Given the description of an element on the screen output the (x, y) to click on. 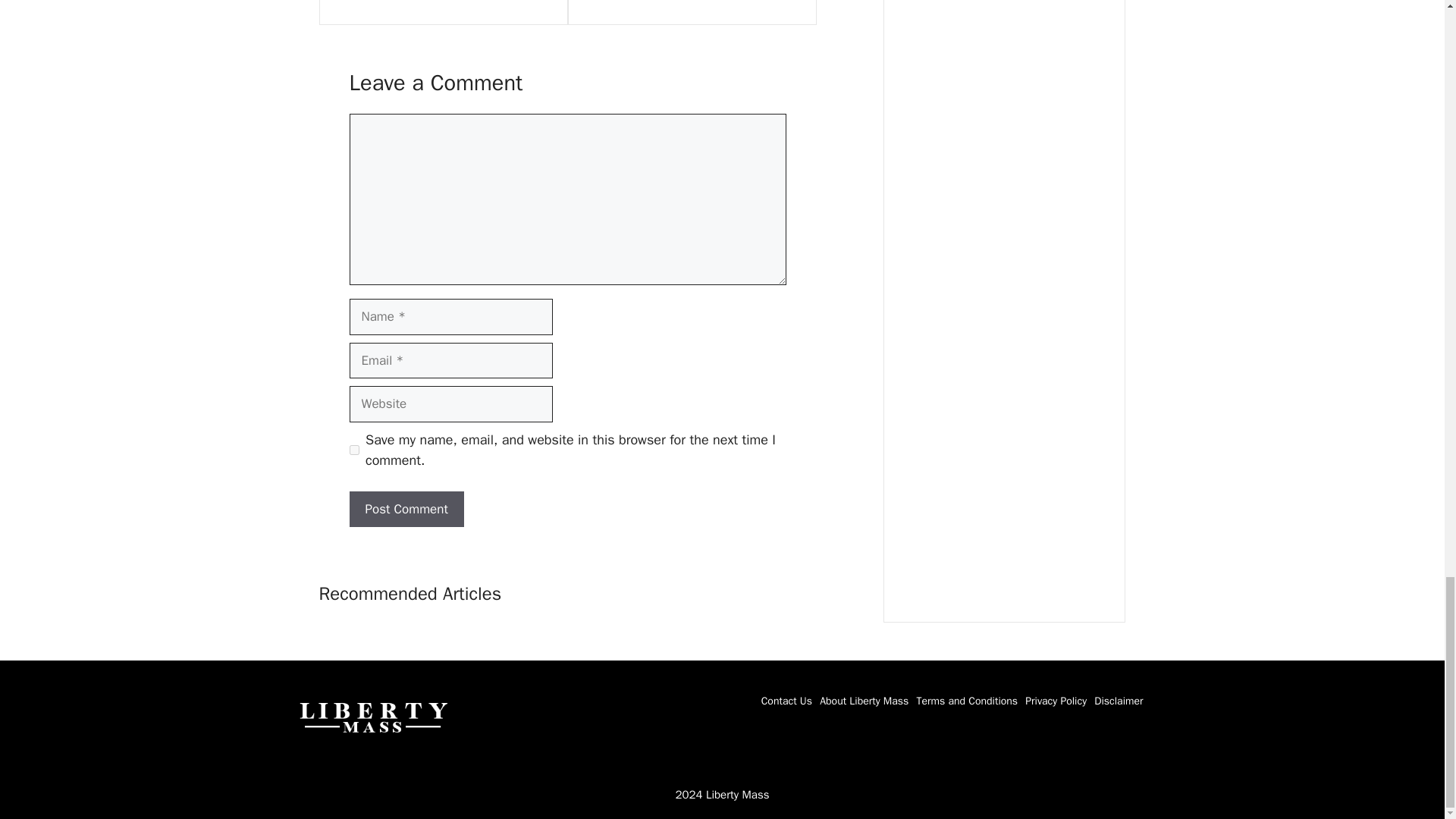
yes (353, 450)
Post Comment (406, 509)
Disclaimer (1118, 700)
About Liberty Mass (863, 700)
Contact Us (786, 700)
logowhite-min (372, 716)
Privacy Policy (1055, 700)
Terms and Conditions (966, 700)
Post Comment (406, 509)
